Given the description of an element on the screen output the (x, y) to click on. 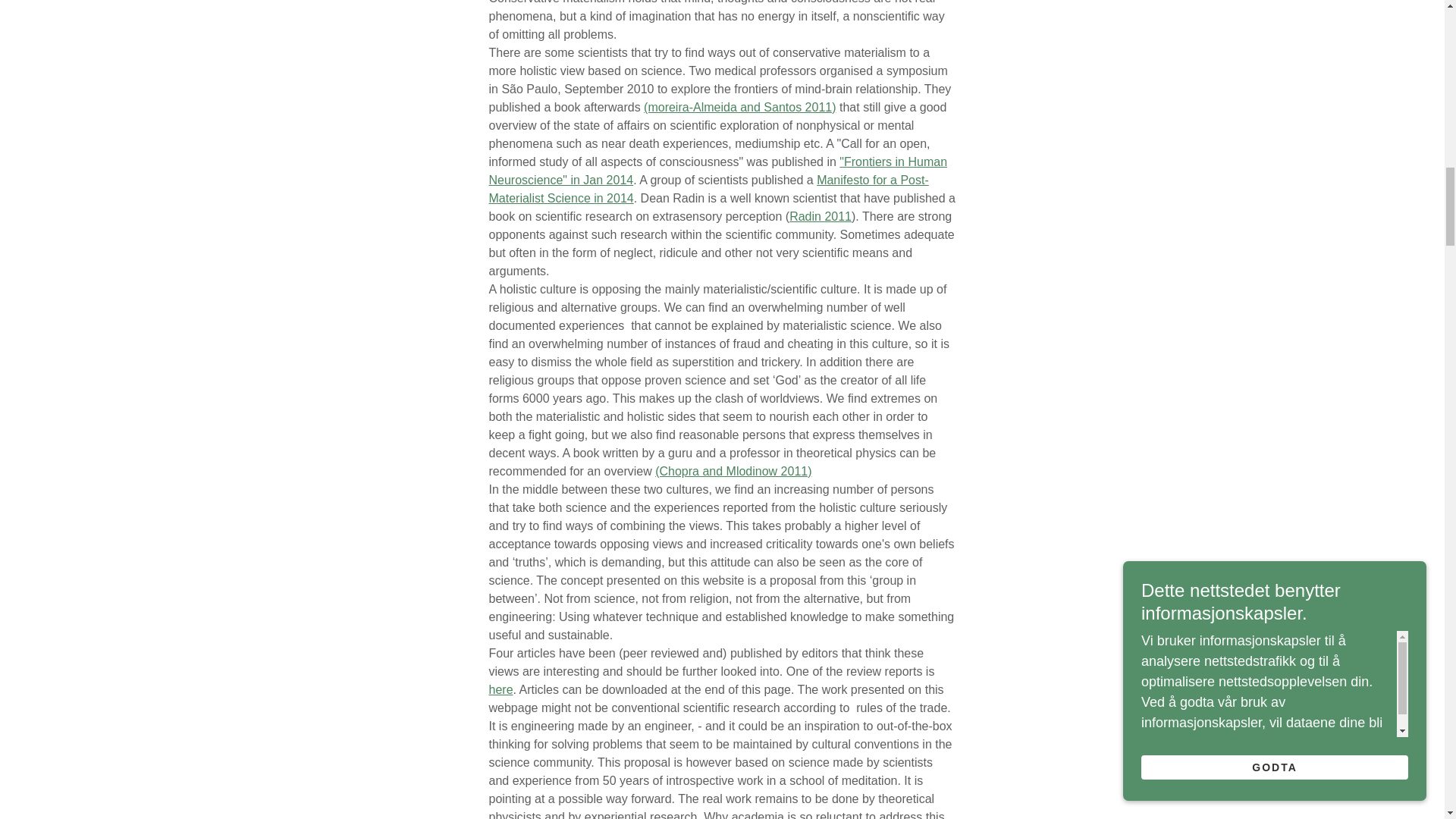
here (499, 689)
"Frontiers in Human Neuroscience" in Jan 2014 (717, 170)
Radin 2011 (820, 215)
Manifesto for a Post-Materialist Science in 2014 (707, 188)
